Given the description of an element on the screen output the (x, y) to click on. 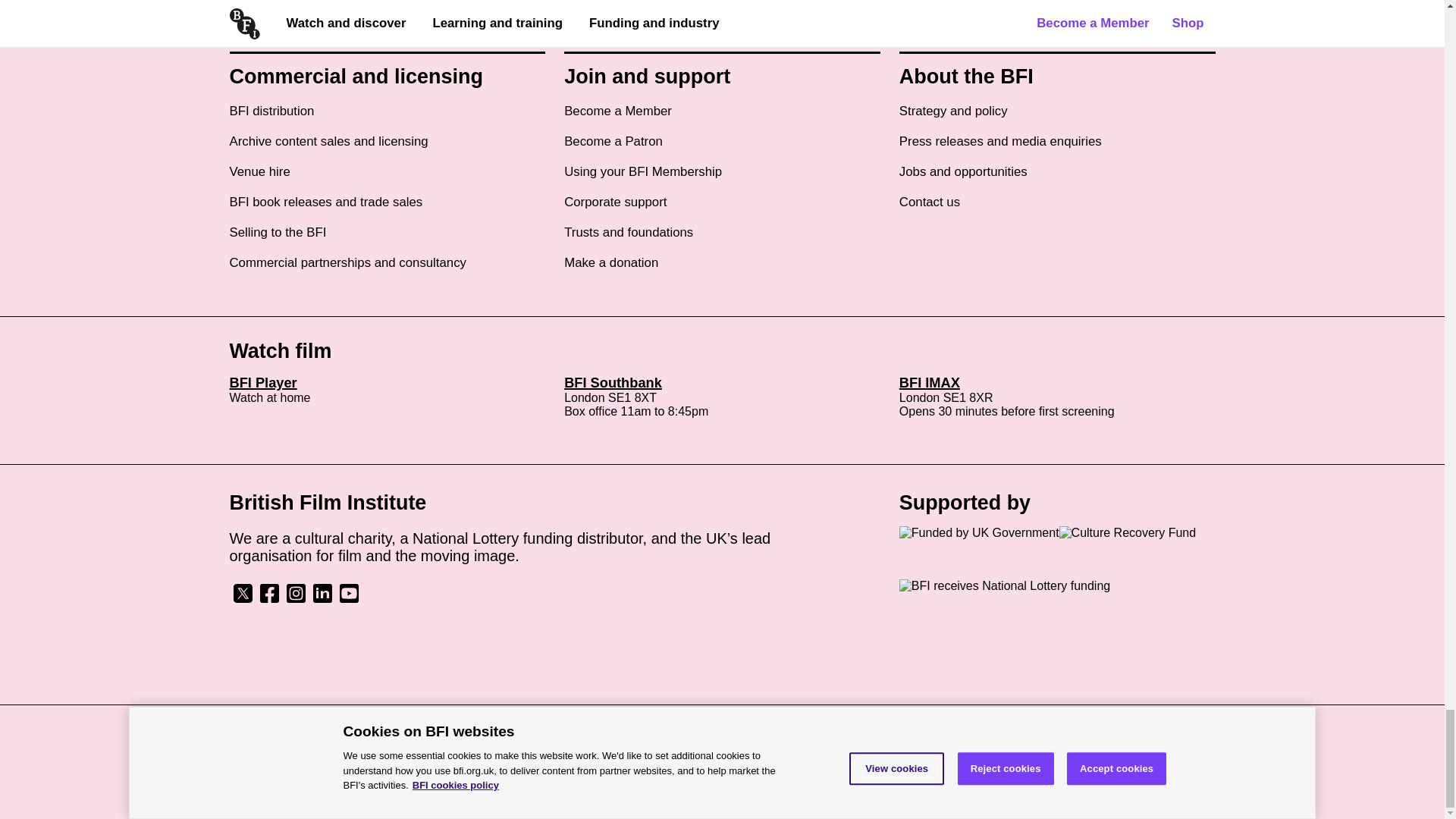
View our LinkedIn (322, 599)
View our YouTube (347, 599)
Commercial partnerships and consultancy (346, 263)
Facebook (269, 592)
Venue hire (258, 171)
YouTube (347, 592)
View our Instagram (295, 599)
Archive content sales and licensing (328, 141)
View our Twitter (242, 599)
BFI distribution (271, 111)
